Given the description of an element on the screen output the (x, y) to click on. 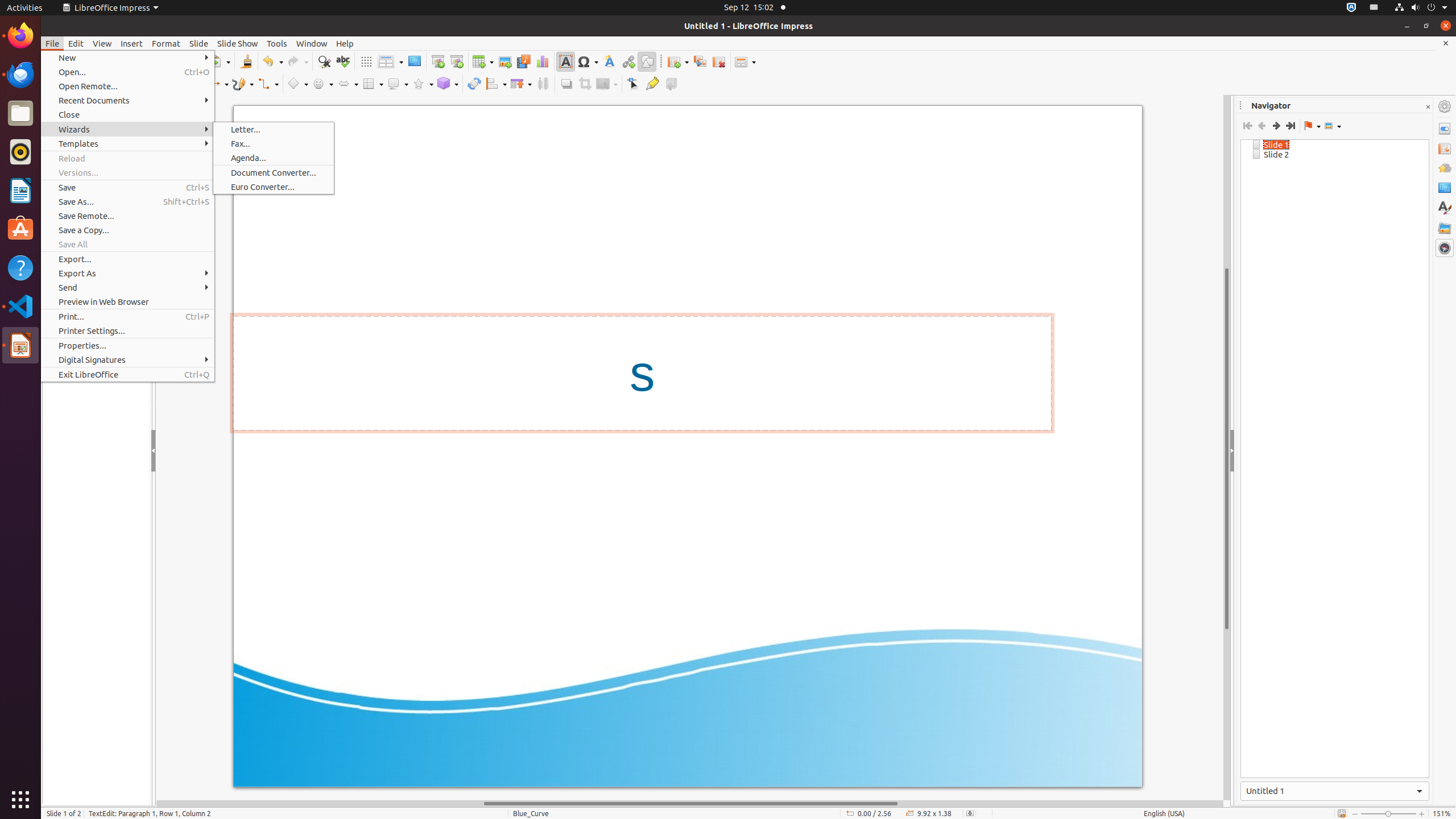
Next Slide Element type: push-button (1275, 125)
Save All Element type: menu-item (127, 244)
New Element type: menu (127, 57)
Export... Element type: menu-item (127, 258)
Window Element type: menu (311, 43)
